Given the description of an element on the screen output the (x, y) to click on. 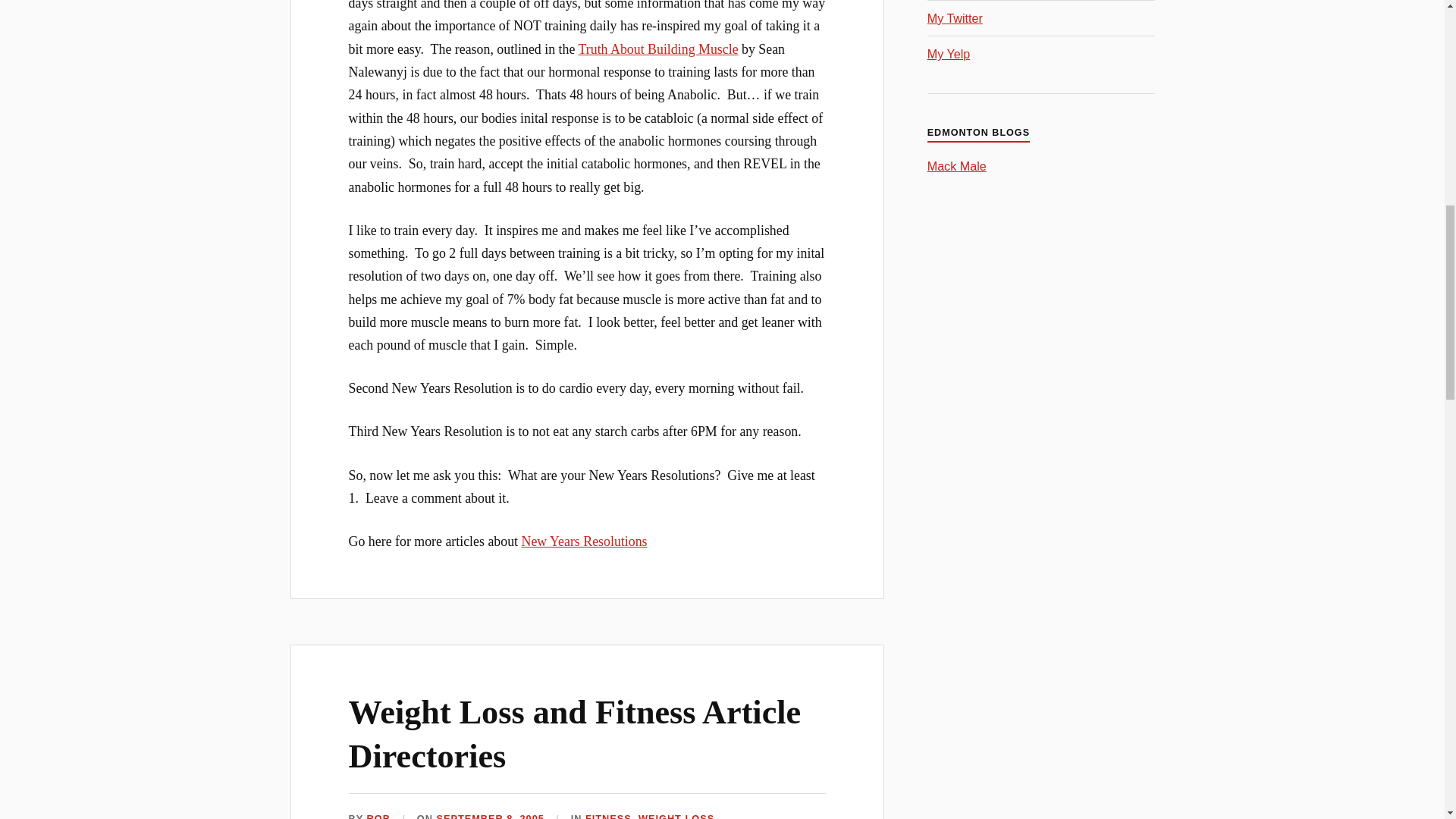
SEPTEMBER 8, 2005 (489, 816)
WEIGHT LOSS (676, 816)
Posts by Rob (378, 816)
New Years Resolutions (584, 540)
Truth About Building Muscle (658, 48)
Weight Loss and Fitness Article Directories (575, 733)
new years resolutions (584, 540)
ROB (378, 816)
truth about building muscle (658, 48)
FITNESS (608, 816)
